Given the description of an element on the screen output the (x, y) to click on. 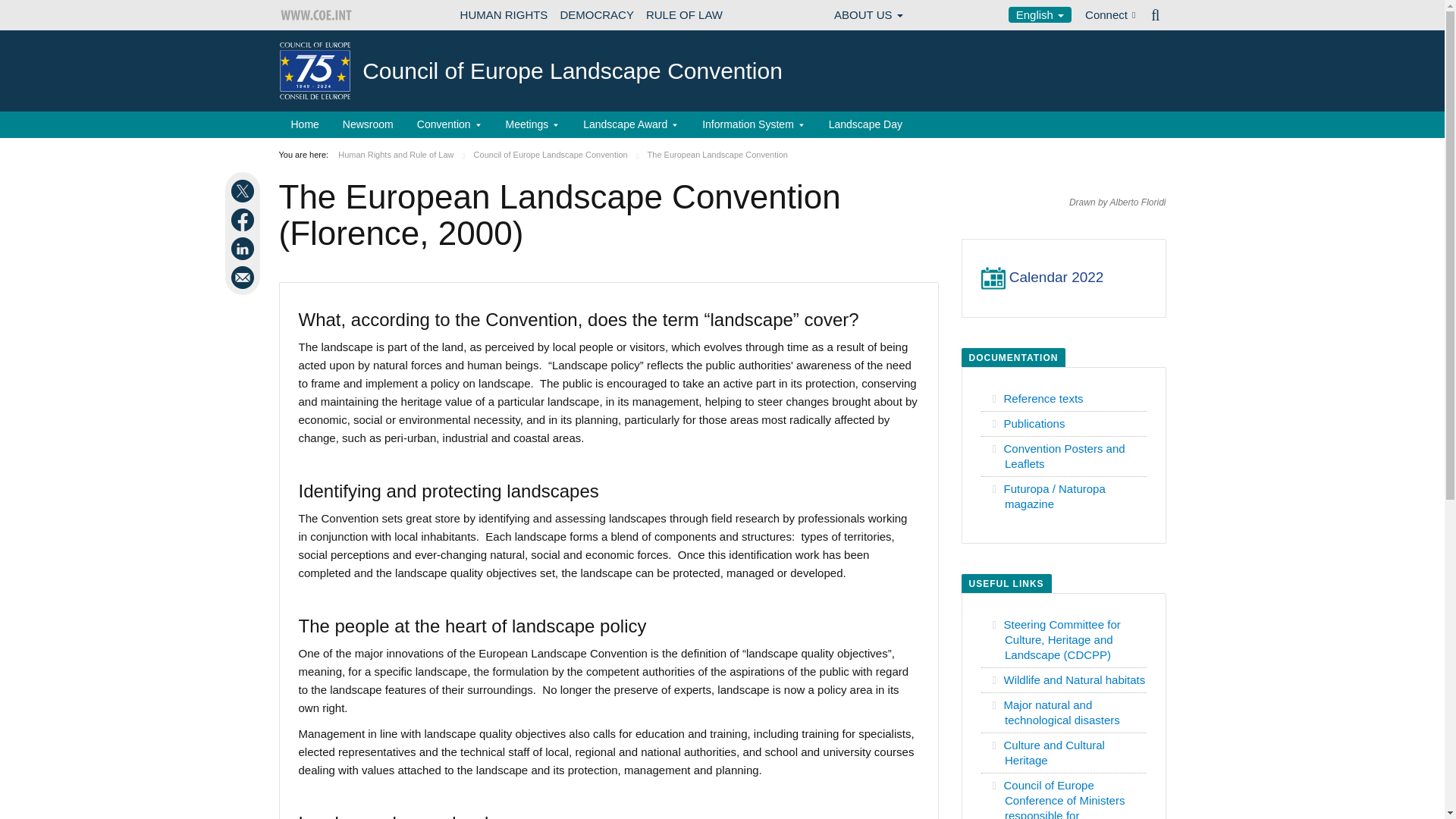
Share on Facebook (244, 219)
Send this page (244, 277)
DEMOCRACY (596, 15)
ABOUT US (868, 15)
HUMAN RIGHTS (504, 15)
WWW.COE.INT (317, 15)
English (1040, 14)
Share on Linkedin (244, 248)
RULE OF LAW (684, 15)
Connect (1109, 15)
